Given the description of an element on the screen output the (x, y) to click on. 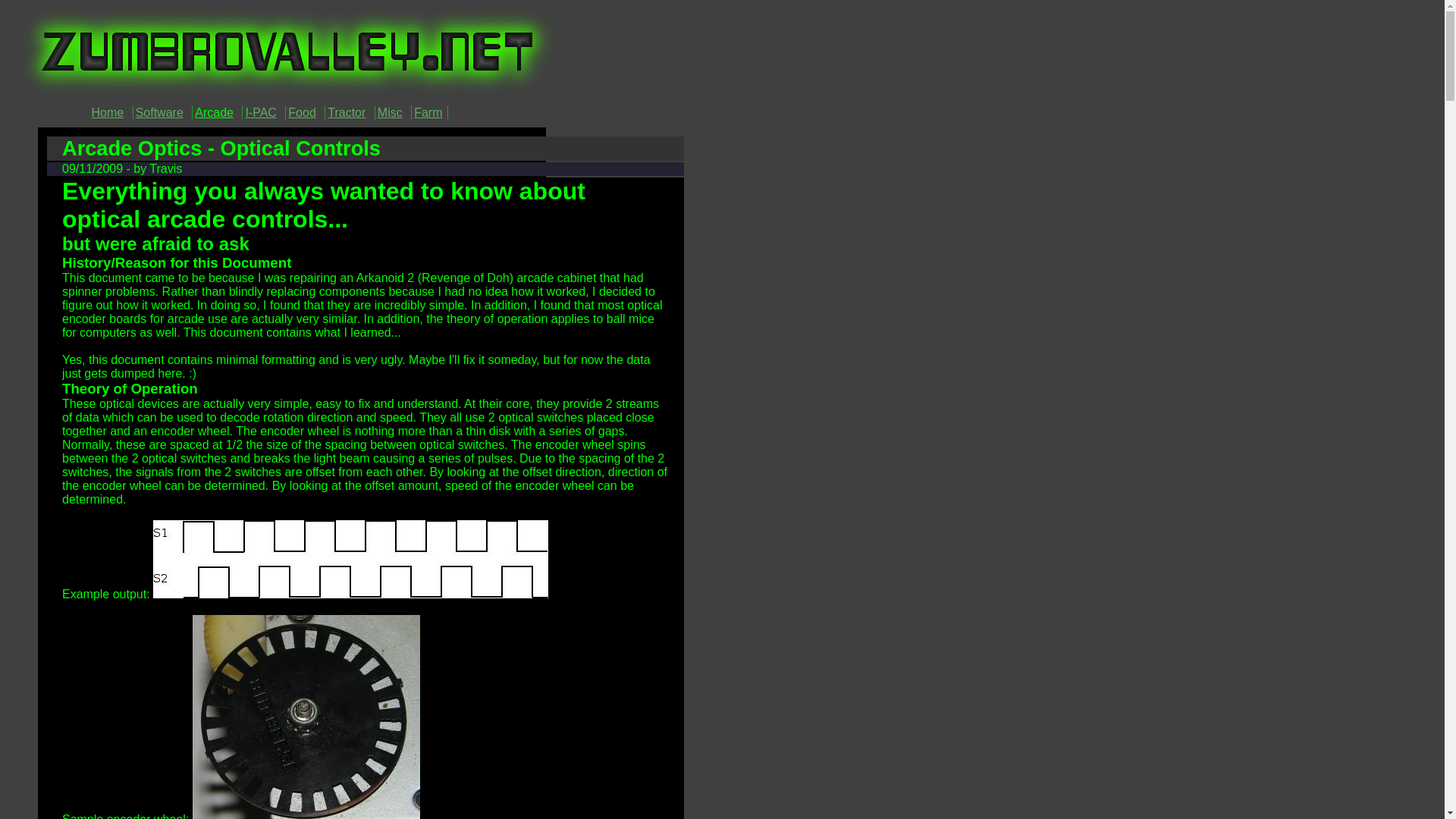
I-PAC (260, 112)
Farm (427, 112)
Software (159, 112)
Tractor (346, 112)
Food (301, 112)
Misc (390, 112)
Home (107, 112)
Arcade (213, 112)
